Given the description of an element on the screen output the (x, y) to click on. 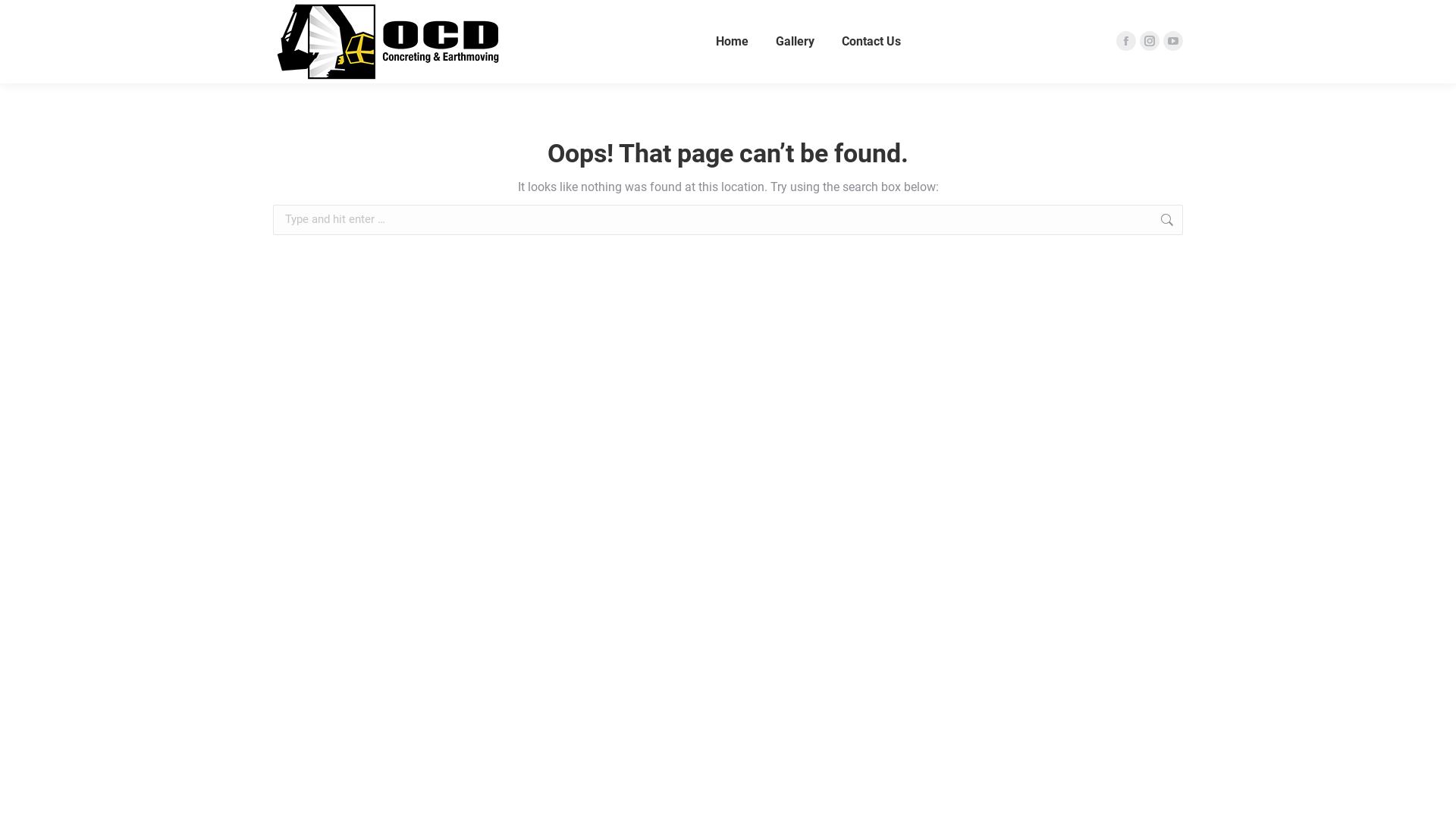
Go! Element type: text (1206, 221)
Facebook page opens in new window Element type: text (1125, 40)
YouTube page opens in new window Element type: text (1173, 40)
Gallery Element type: text (794, 41)
Home Element type: text (731, 41)
Contact Us Element type: text (870, 41)
Instagram page opens in new window Element type: text (1149, 40)
